Given the description of an element on the screen output the (x, y) to click on. 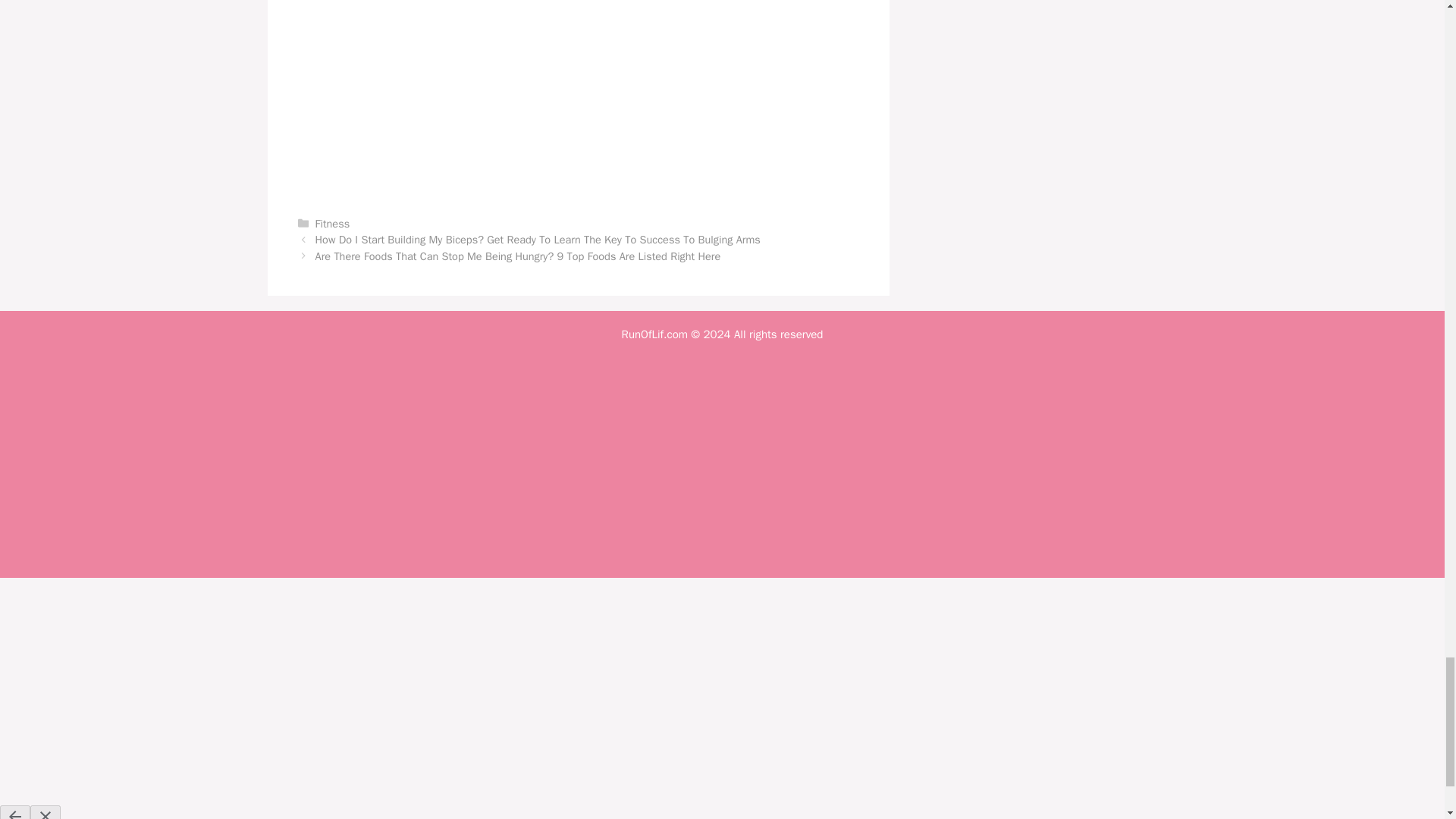
Fitness (332, 223)
